Given the description of an element on the screen output the (x, y) to click on. 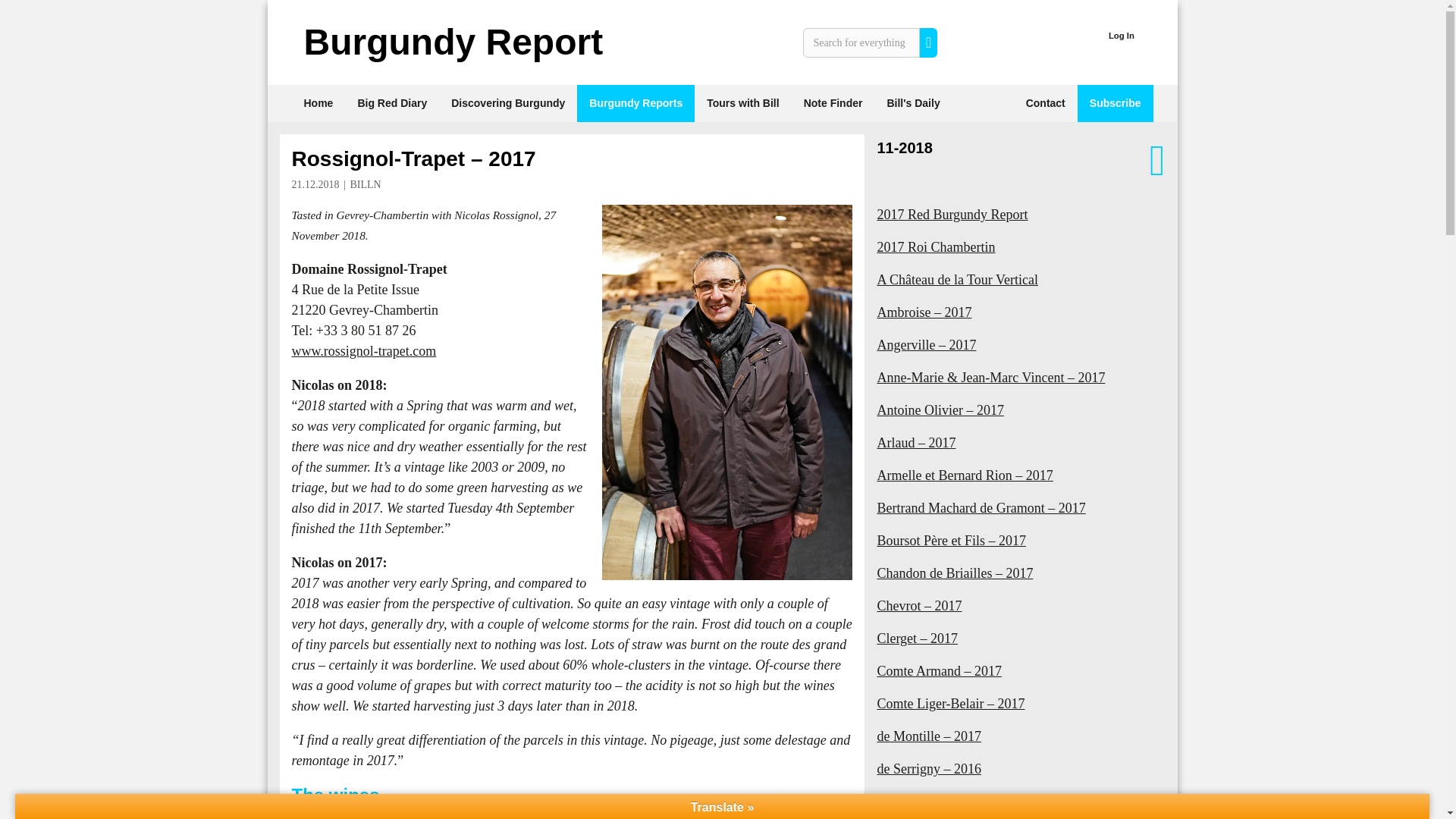
2017 Red Burgundy Report (1020, 214)
www.rossignol-trapet.com (363, 350)
2017 Roi Chambertin (1020, 246)
11-2018 (903, 147)
BILLN (365, 184)
